Given the description of an element on the screen output the (x, y) to click on. 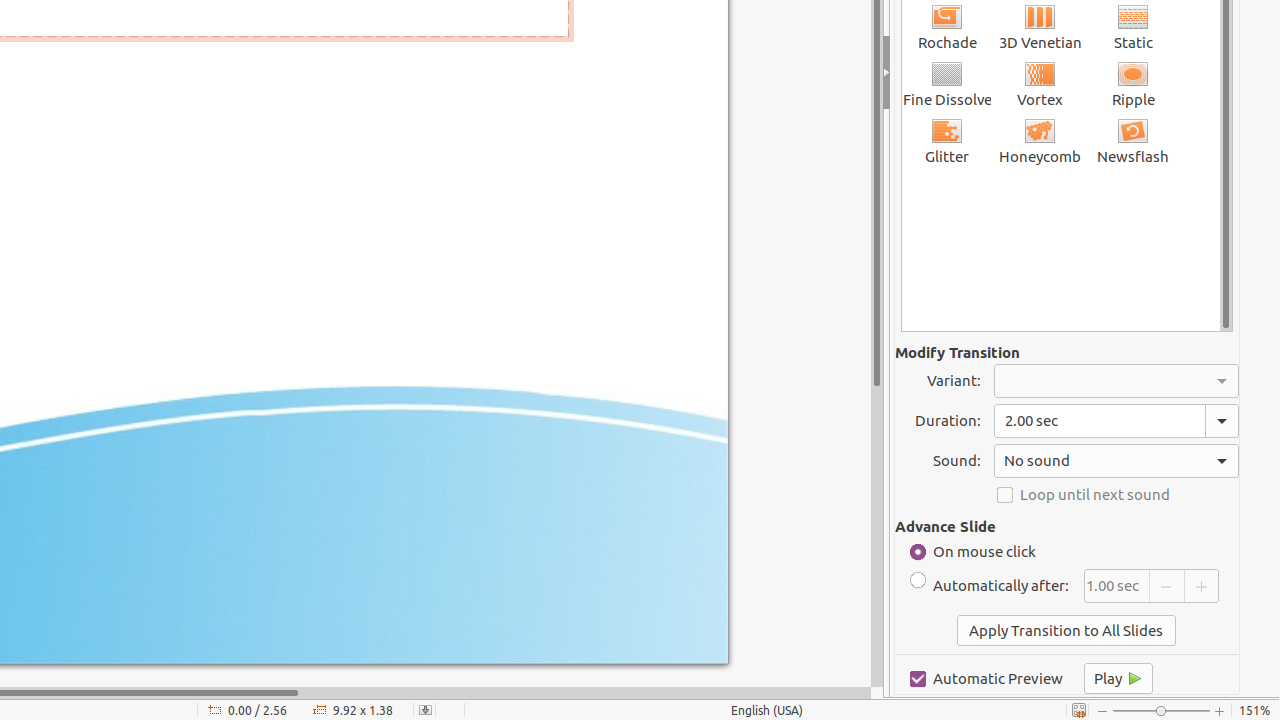
Play Element type: push-button (1118, 678)
Loop until next sound Element type: check-box (1116, 494)
On mouse click Element type: radio-button (1063, 552)
Fine Dissolve Element type: list-item (947, 83)
Newsflash Element type: list-item (1133, 140)
